Given the description of an element on the screen output the (x, y) to click on. 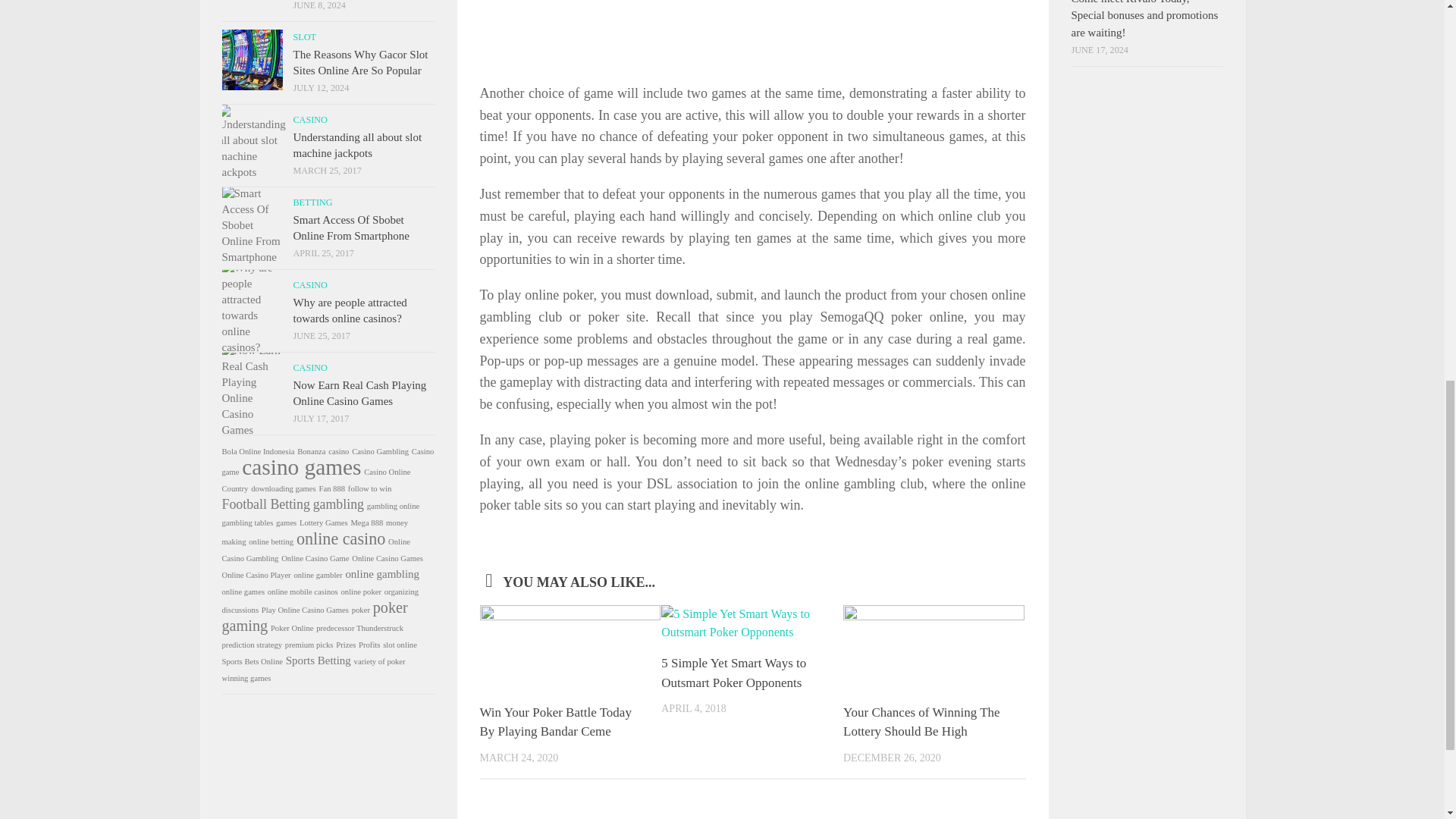
Win Your Poker Battle Today By Playing Bandar Ceme (554, 722)
Your Chances of Winning The Lottery Should Be High (921, 722)
5 Simple Yet Smart Ways to Outsmart Poker Opponents (733, 673)
